Given the description of an element on the screen output the (x, y) to click on. 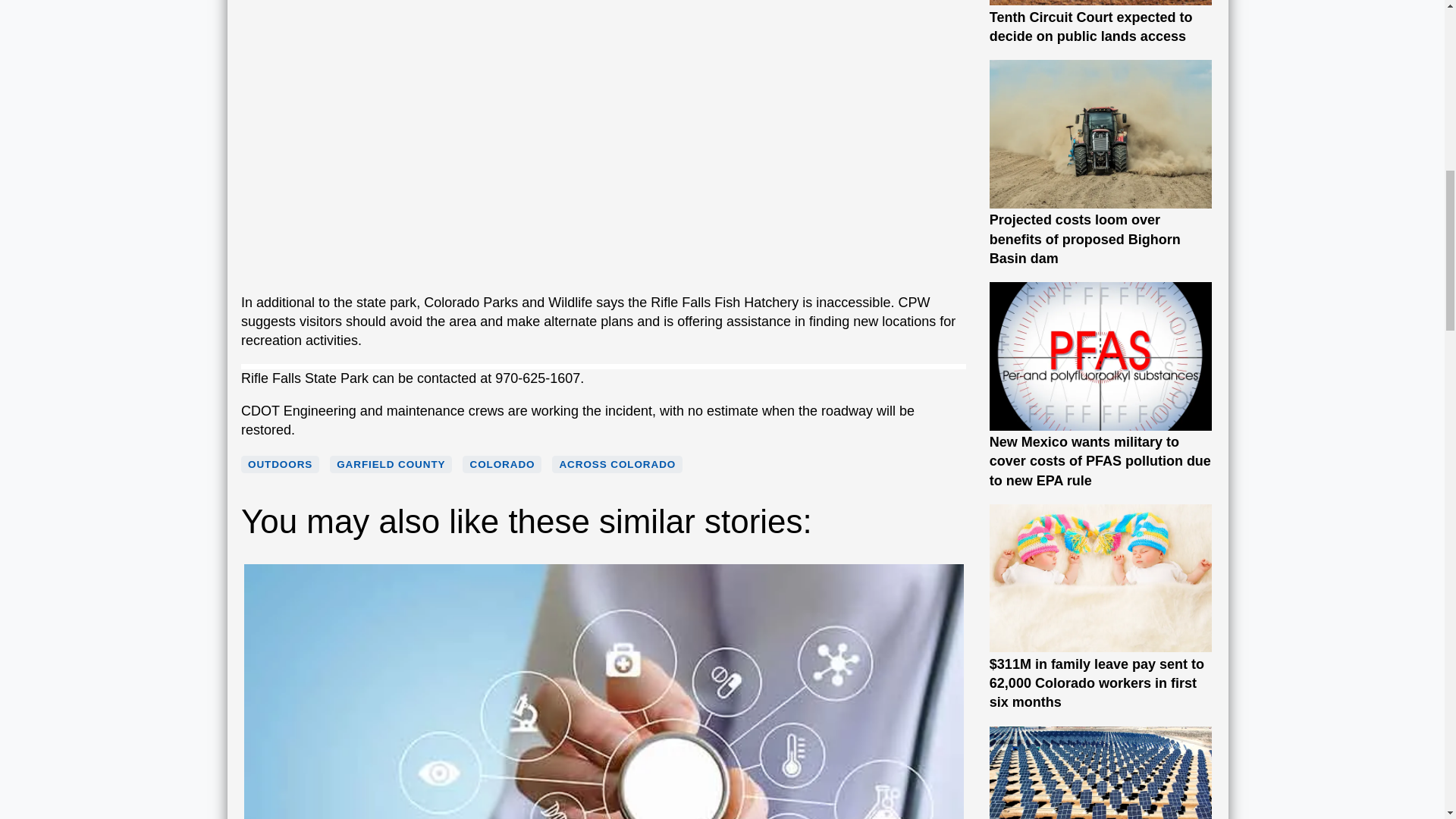
COLORADO (501, 464)
GARFIELD COUNTY (390, 464)
OUTDOORS (280, 464)
PROMO 64 Energy - Solar Panel Cell Photovoltaic Array - Wiki (1101, 772)
ACROSS COLORADO (617, 464)
New health center serves homeless shelter residents onsite (603, 807)
